Given the description of an element on the screen output the (x, y) to click on. 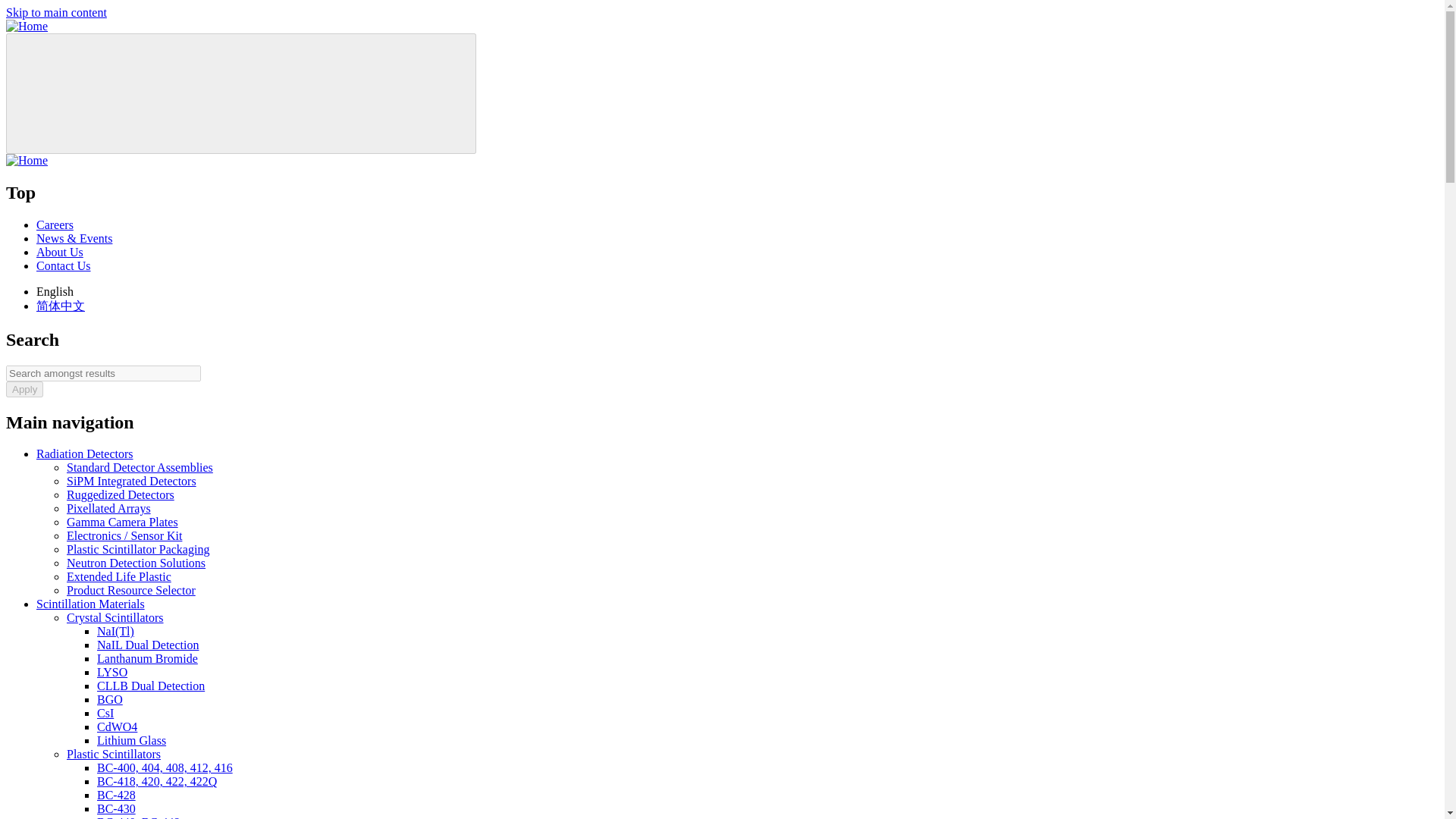
Lithium Glass (131, 739)
Gamma-Neutron Detection (151, 685)
Cesium Iodide (105, 712)
Standard and Enhanced LaBr (147, 658)
BC-428 (116, 794)
Sodium Iodide (115, 631)
CLLB Dual Detection (151, 685)
Skip to main content (55, 11)
SiPM Integrated Detectors (131, 481)
Bismuth Germanate (109, 698)
BC-418, 420, 422, 422Q (156, 780)
Chinese, Simplified (60, 305)
BC-440, BC-448 (138, 817)
LYSO (112, 671)
BGO (109, 698)
